Given the description of an element on the screen output the (x, y) to click on. 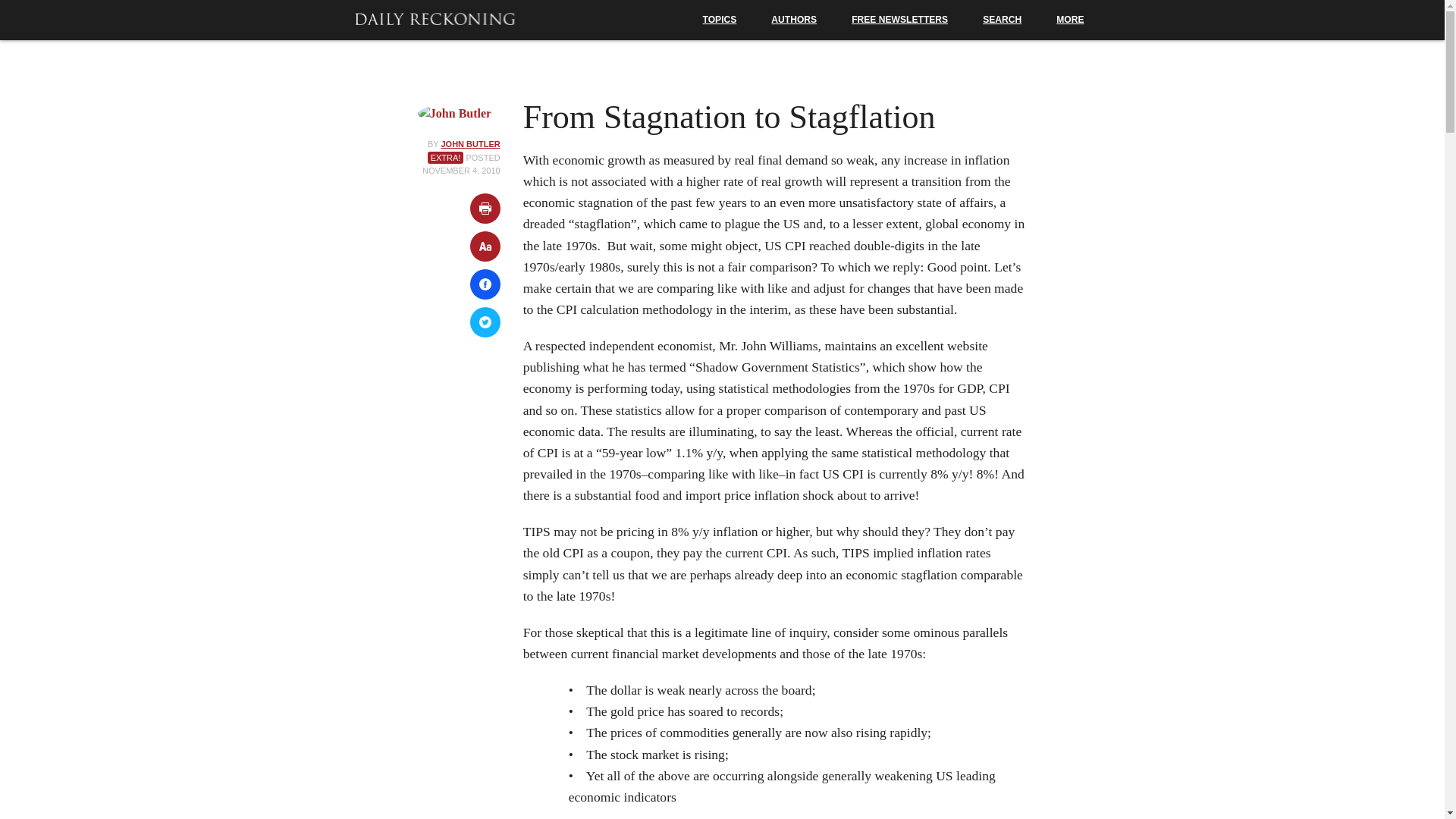
JOHN BUTLER (470, 143)
TOPICS (719, 20)
